Given the description of an element on the screen output the (x, y) to click on. 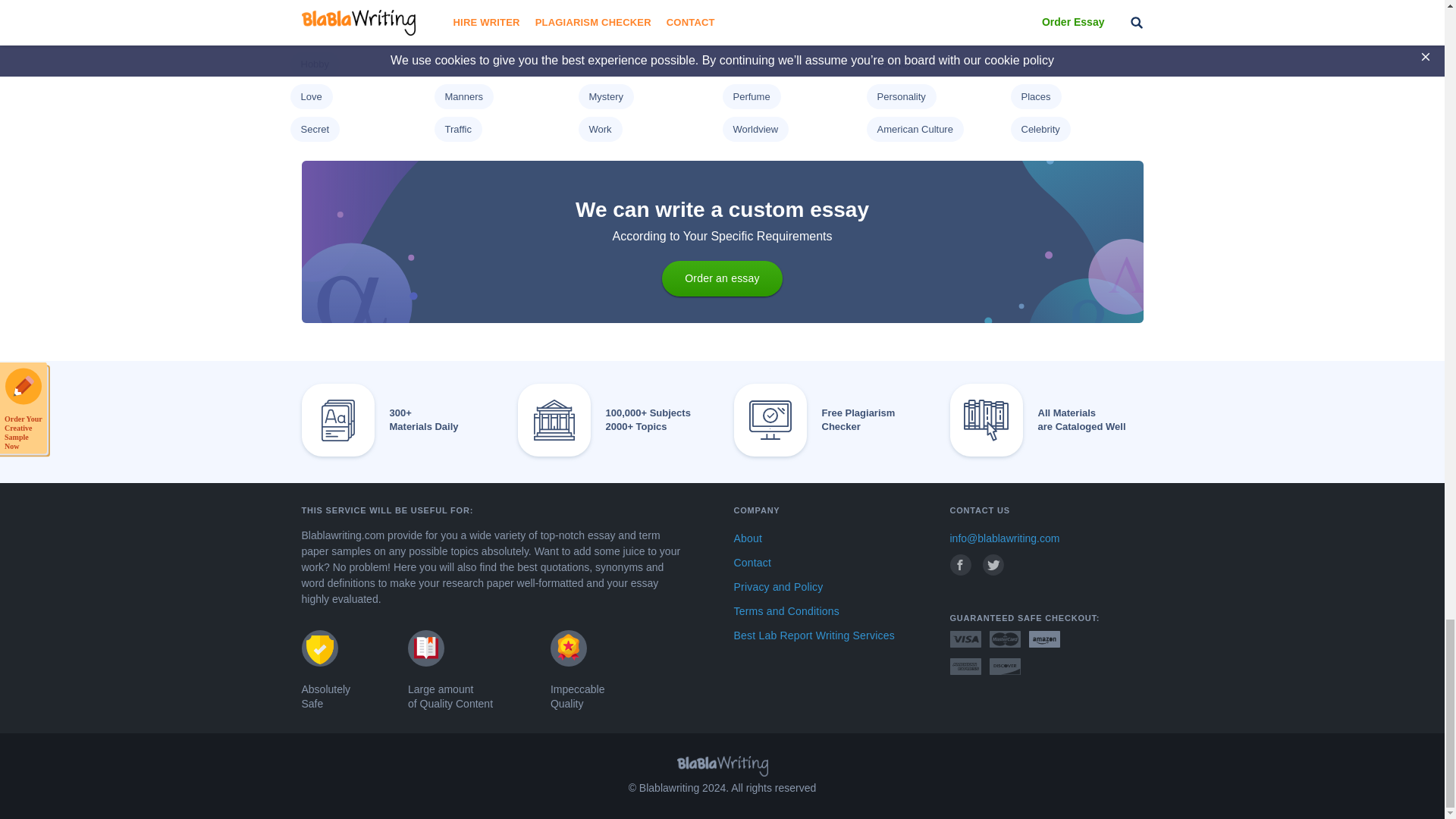
Fire (308, 30)
Fate (1030, 2)
Forgiveness (470, 30)
Farewell (895, 2)
Experiences (759, 2)
Friendship (611, 30)
Destiny (316, 2)
Goals (745, 30)
Events (603, 2)
Emotions (464, 2)
